Given the description of an element on the screen output the (x, y) to click on. 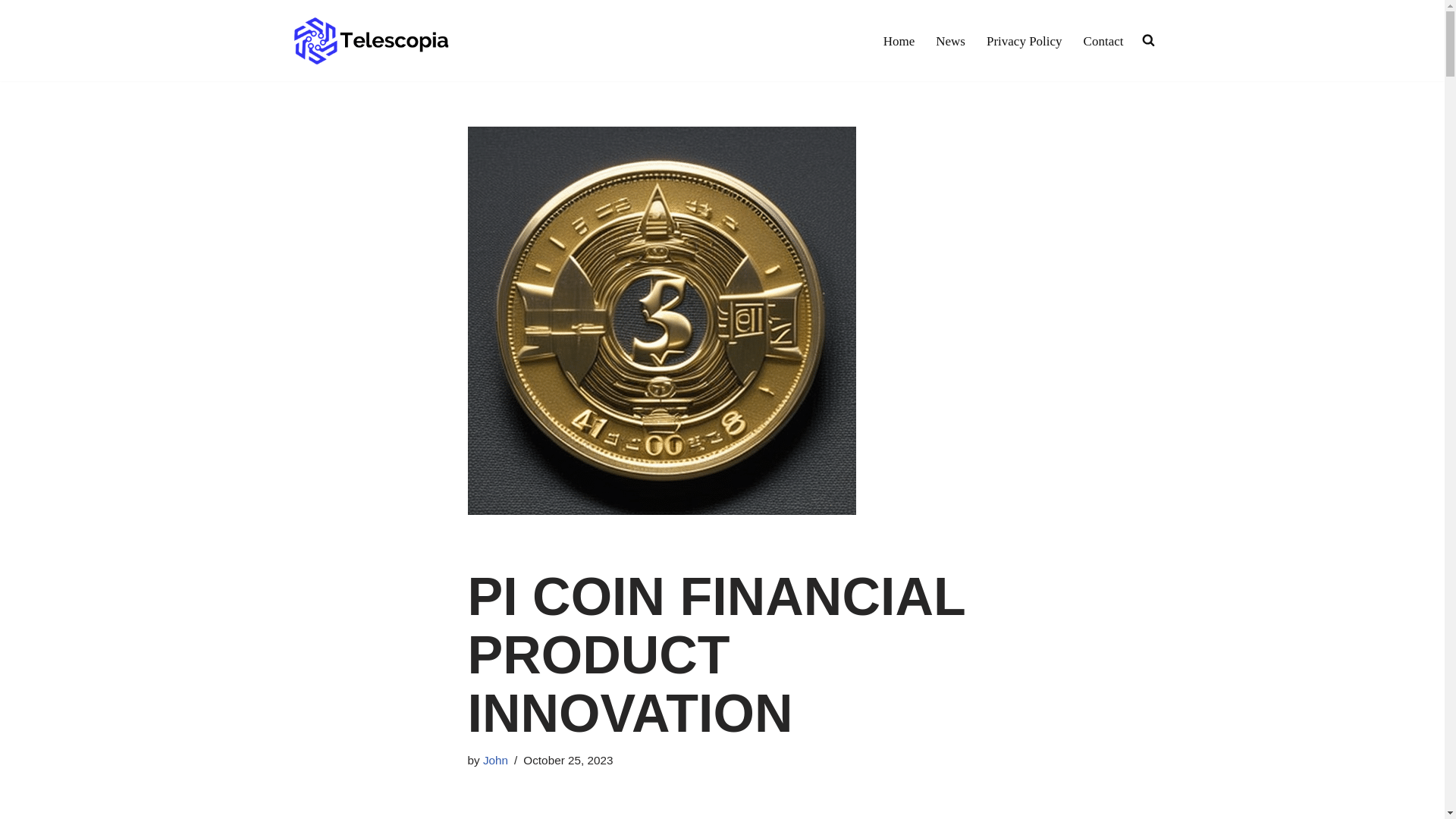
John (495, 759)
Privacy Policy (1024, 40)
Posts by John (495, 759)
Home (899, 40)
Contact (1103, 40)
Skip to content (11, 31)
News (950, 40)
